Given the description of an element on the screen output the (x, y) to click on. 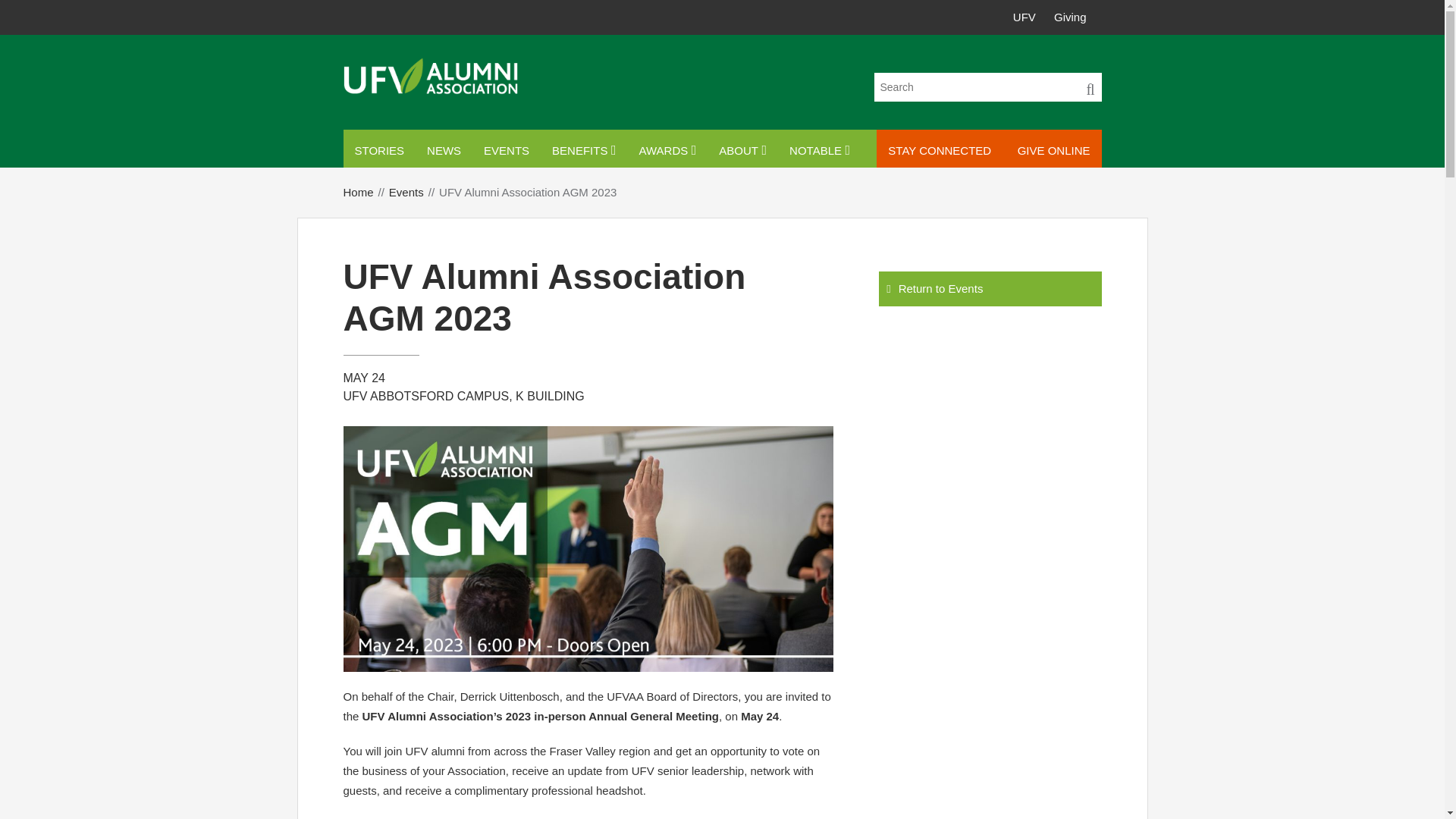
Events (413, 192)
Go to UFV Alumni. (365, 192)
STAY CONNECTED (939, 150)
Go to Events. (413, 192)
Search (1089, 86)
STORIES (378, 150)
AWARDS (667, 150)
BENEFITS (583, 150)
NEWS (442, 150)
NOTABLE (819, 150)
Home (365, 192)
EVENTS (505, 150)
Search (1089, 86)
UFV (1024, 16)
Giving (1070, 16)
